Given the description of an element on the screen output the (x, y) to click on. 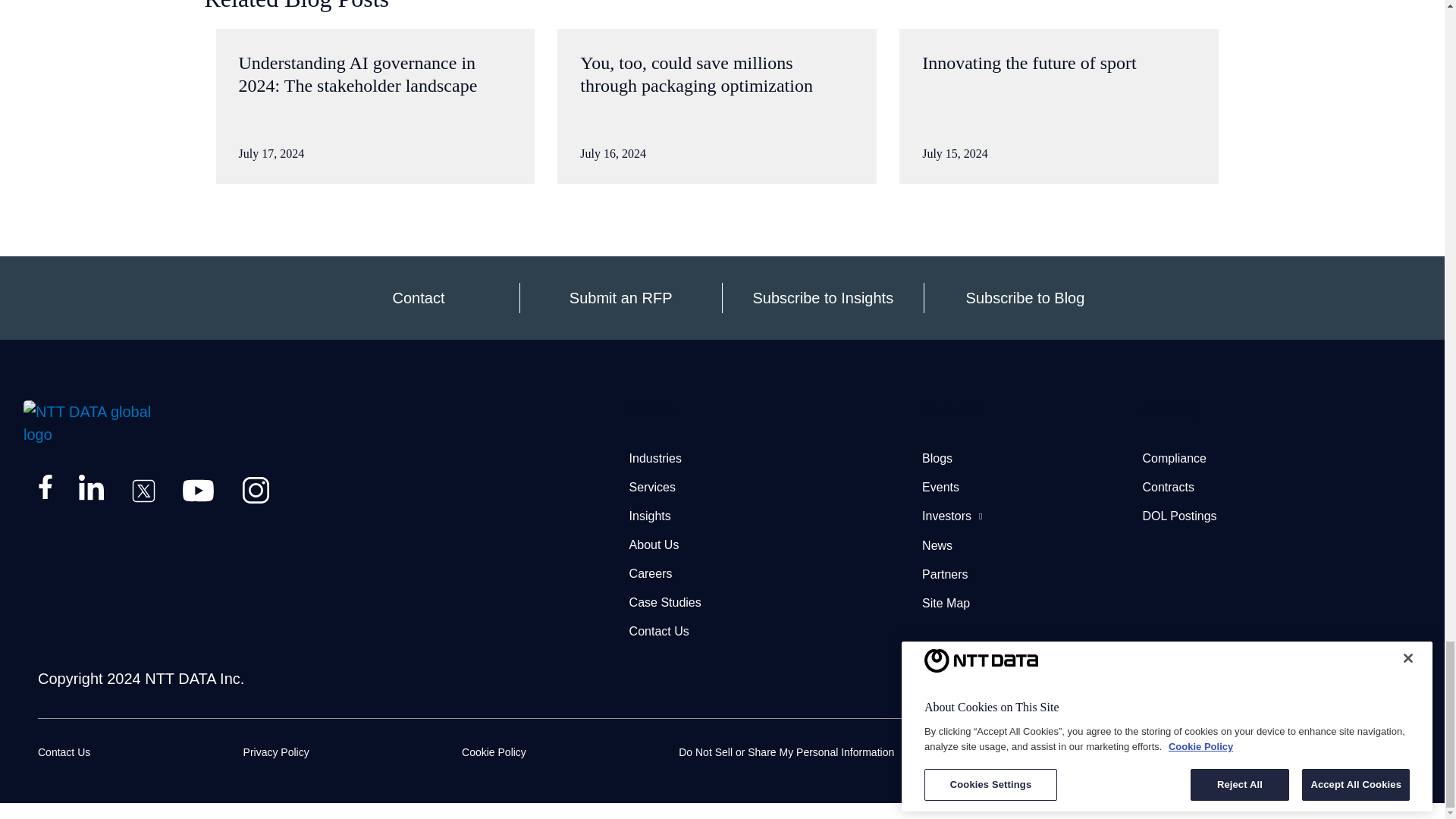
footer-logo (85, 422)
Innovating the future of sport (1058, 106)
Save millions through packaging optimization (716, 106)
Understanding AI governance in 2024 (374, 106)
